Given the description of an element on the screen output the (x, y) to click on. 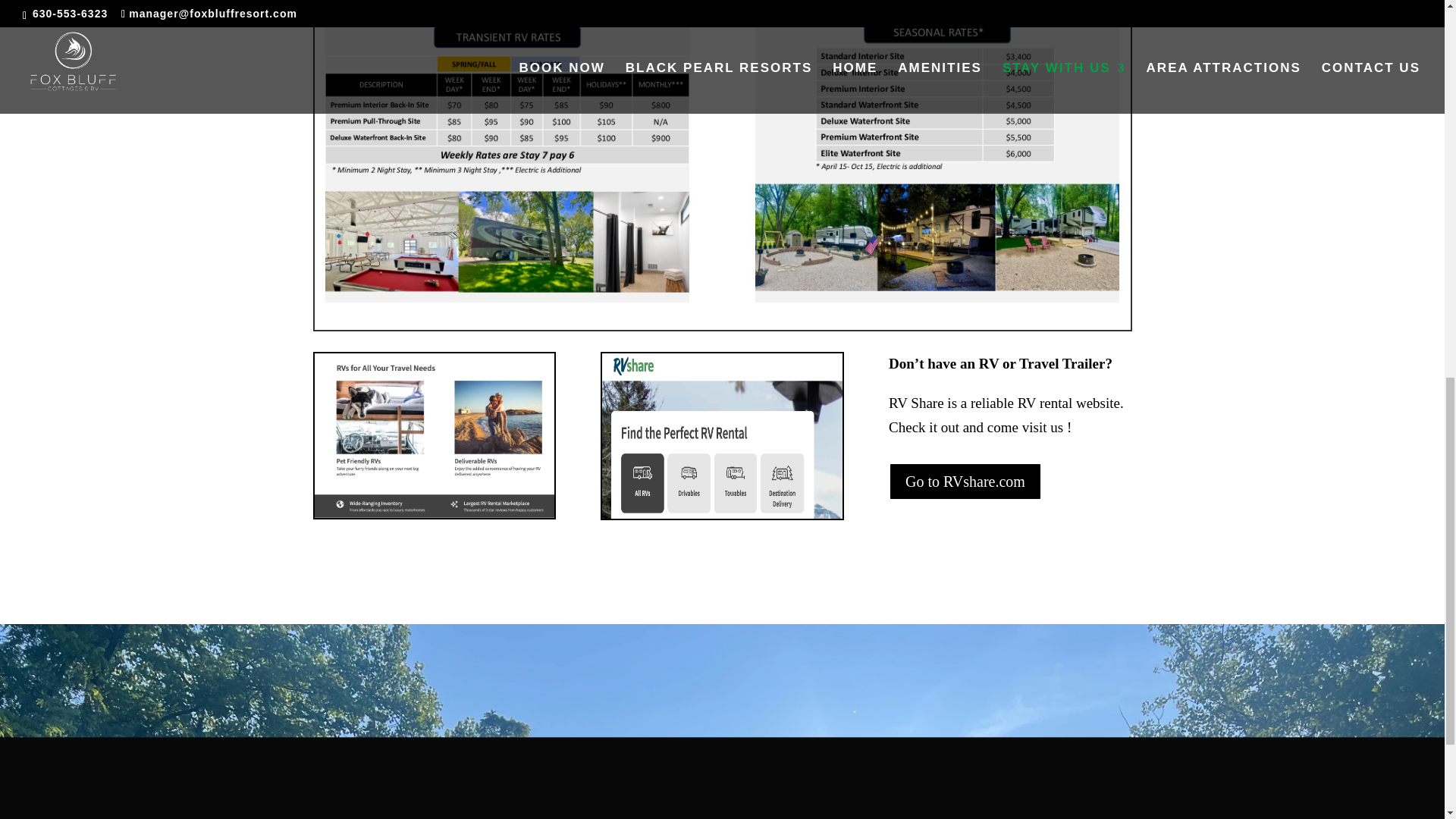
Transient Rates 2024-1 (506, 154)
Go to RVshare.com (965, 481)
Screenshot 2024-02-26 at 3.57.03 PM (433, 434)
Seasonal Rates 2024-1 (936, 154)
Screenshot 2024-02-26 at 3.58.31 PM (721, 435)
